Given the description of an element on the screen output the (x, y) to click on. 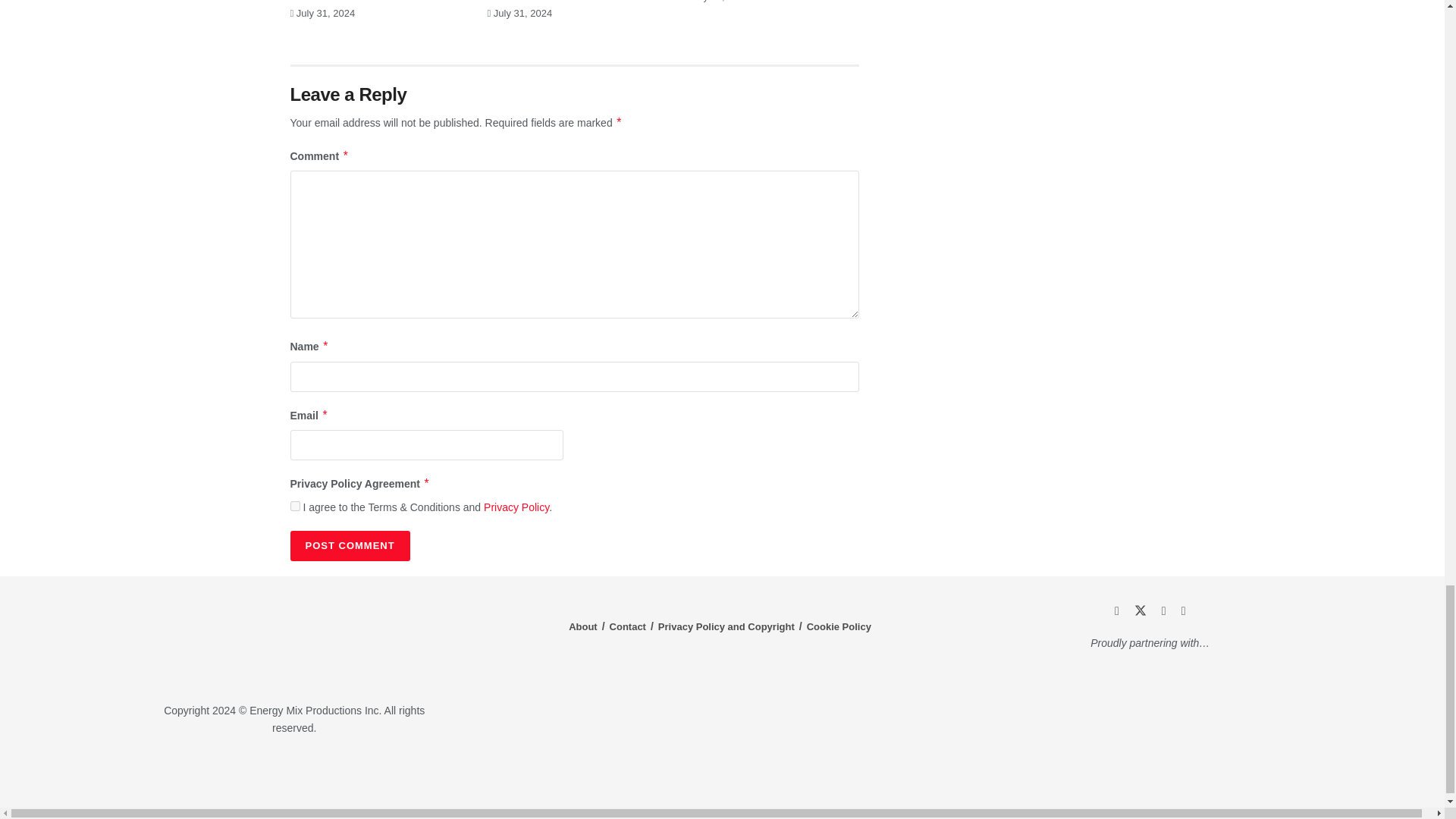
tem-logo-2024 (294, 640)
Climate-and-Capital (1221, 772)
Post Comment (349, 545)
on (294, 506)
